Given the description of an element on the screen output the (x, y) to click on. 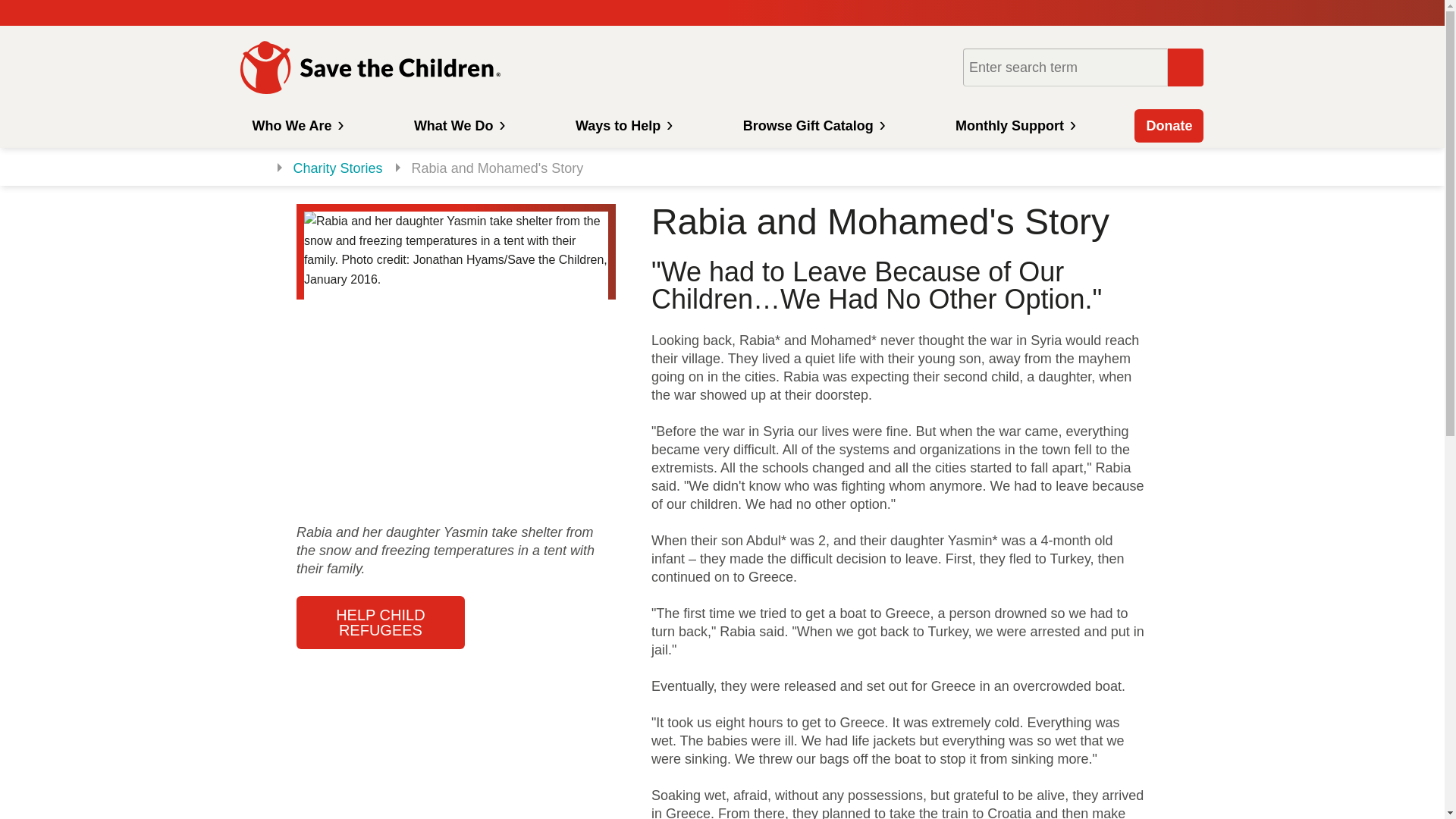
Browse Gift Catalog (812, 125)
Search (1185, 67)
Ways to Help (621, 125)
Help Child Refugees (380, 622)
Monthly Support (1013, 125)
Search (1185, 67)
Enter the terms you wish to search for. (1064, 67)
What We Do (458, 125)
Who We Are (295, 125)
